Given the description of an element on the screen output the (x, y) to click on. 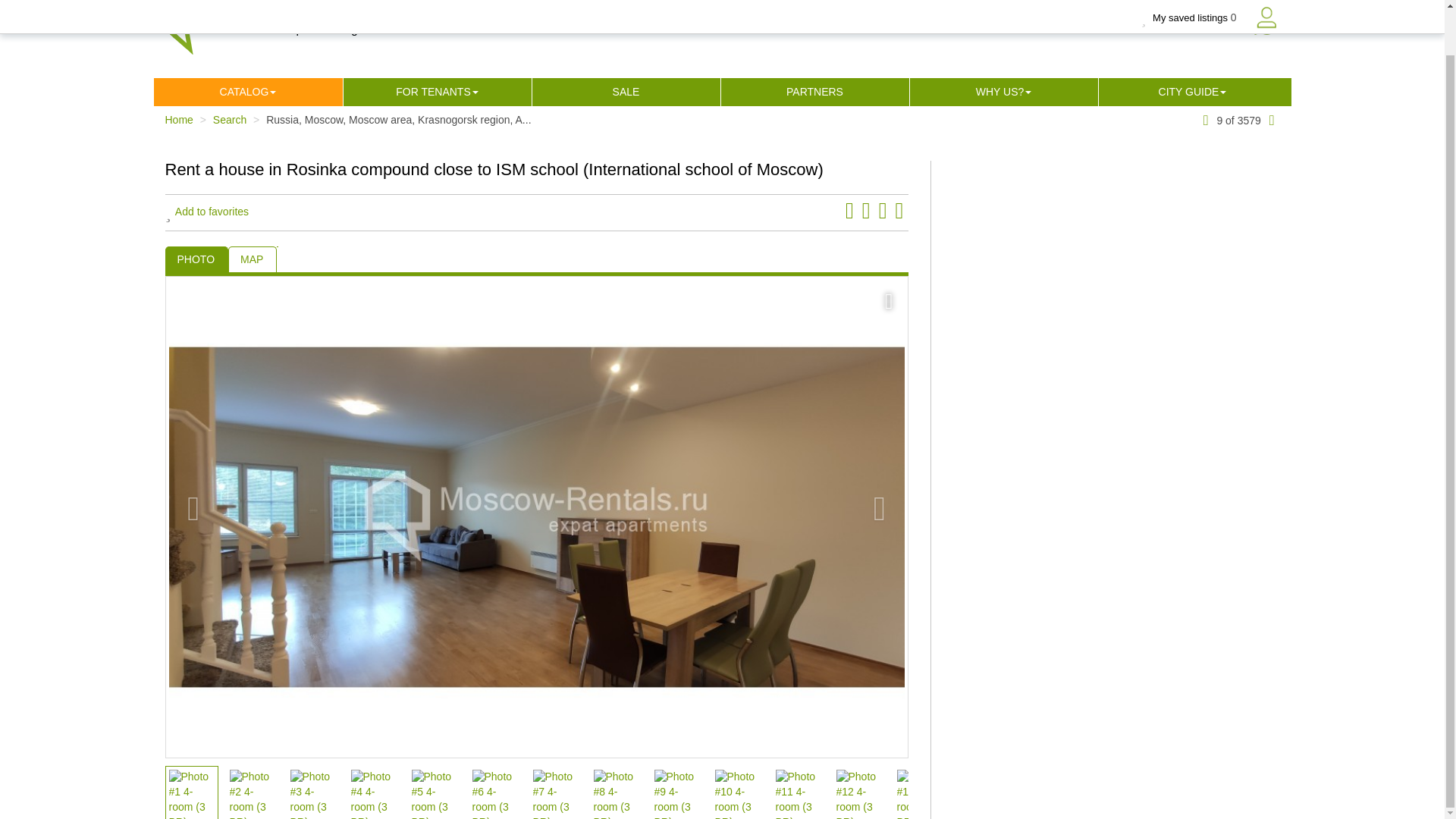
WHY US? (1000, 91)
Search (229, 119)
Add to favorites (206, 211)
Home (179, 119)
PARTNERS (814, 91)
CITY GUIDE (1189, 91)
SALE (626, 91)
FOR TENANTS (433, 91)
